Given the description of an element on the screen output the (x, y) to click on. 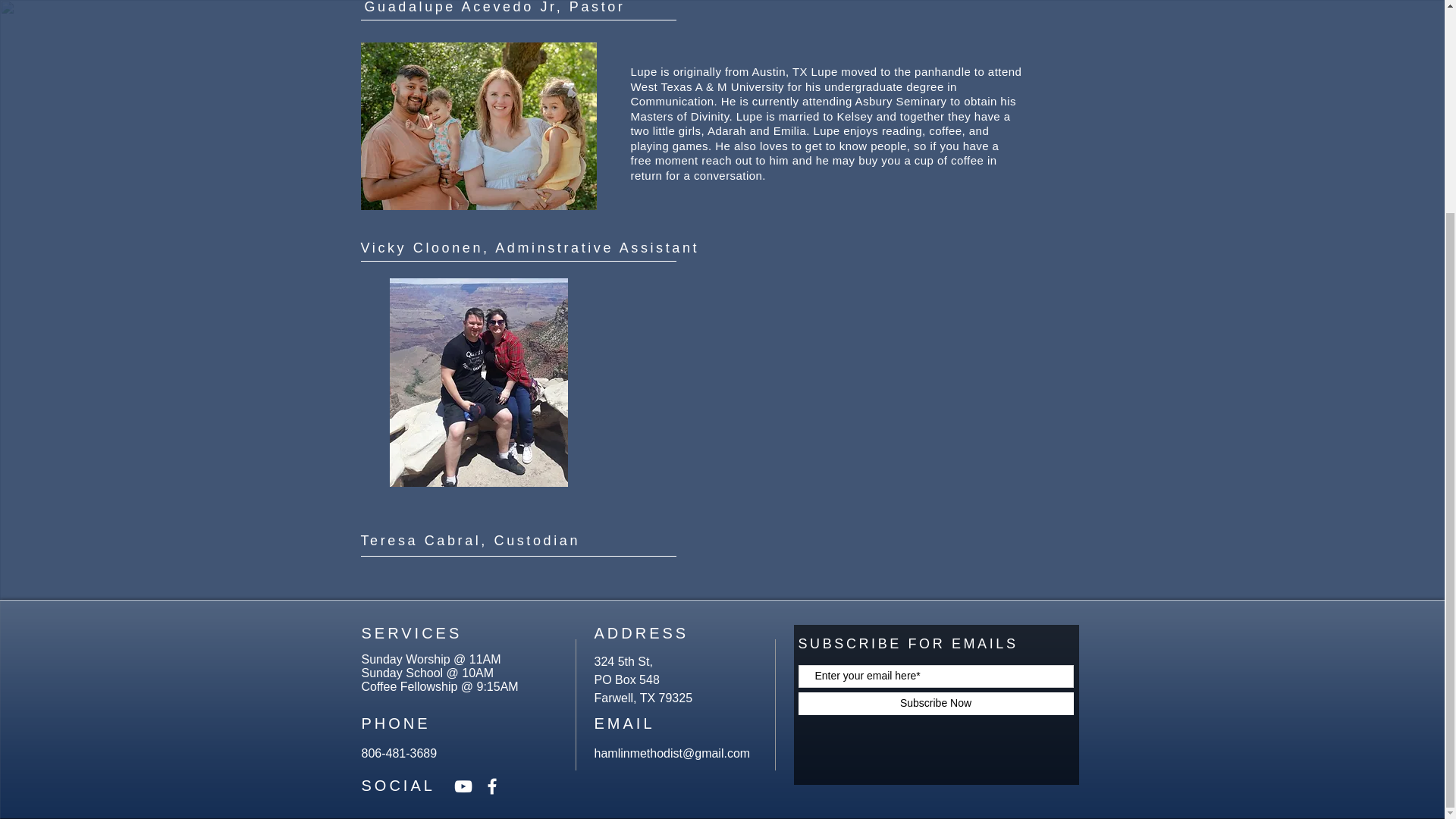
Subscribe Now (935, 703)
